Given the description of an element on the screen output the (x, y) to click on. 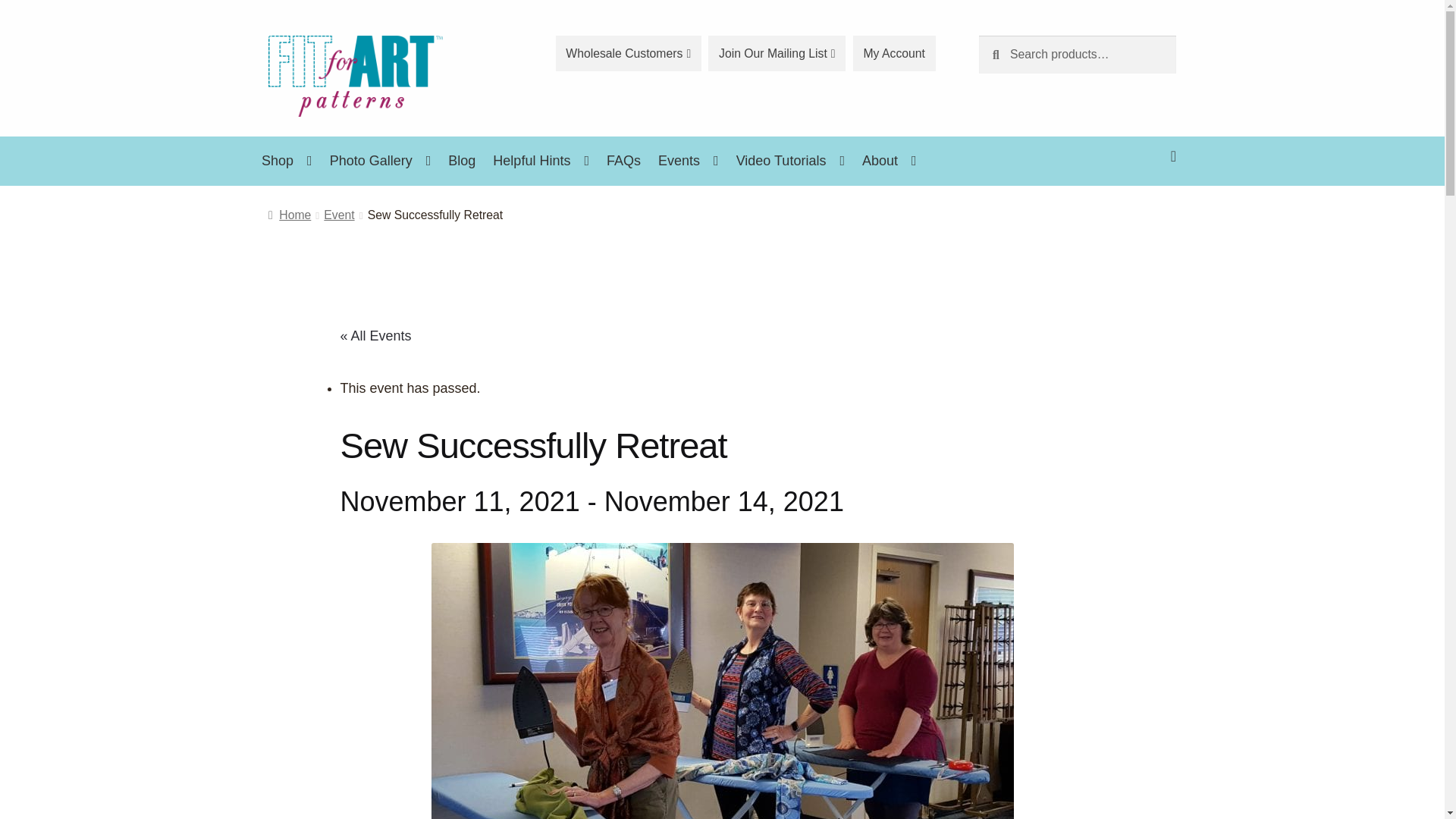
My Account (894, 53)
Shop (286, 160)
Helpful Hints (540, 160)
Photo Gallery (380, 160)
Wholesale Customers (628, 53)
Join Our Mailing List (776, 53)
View your shopping cart (1077, 143)
